Given the description of an element on the screen output the (x, y) to click on. 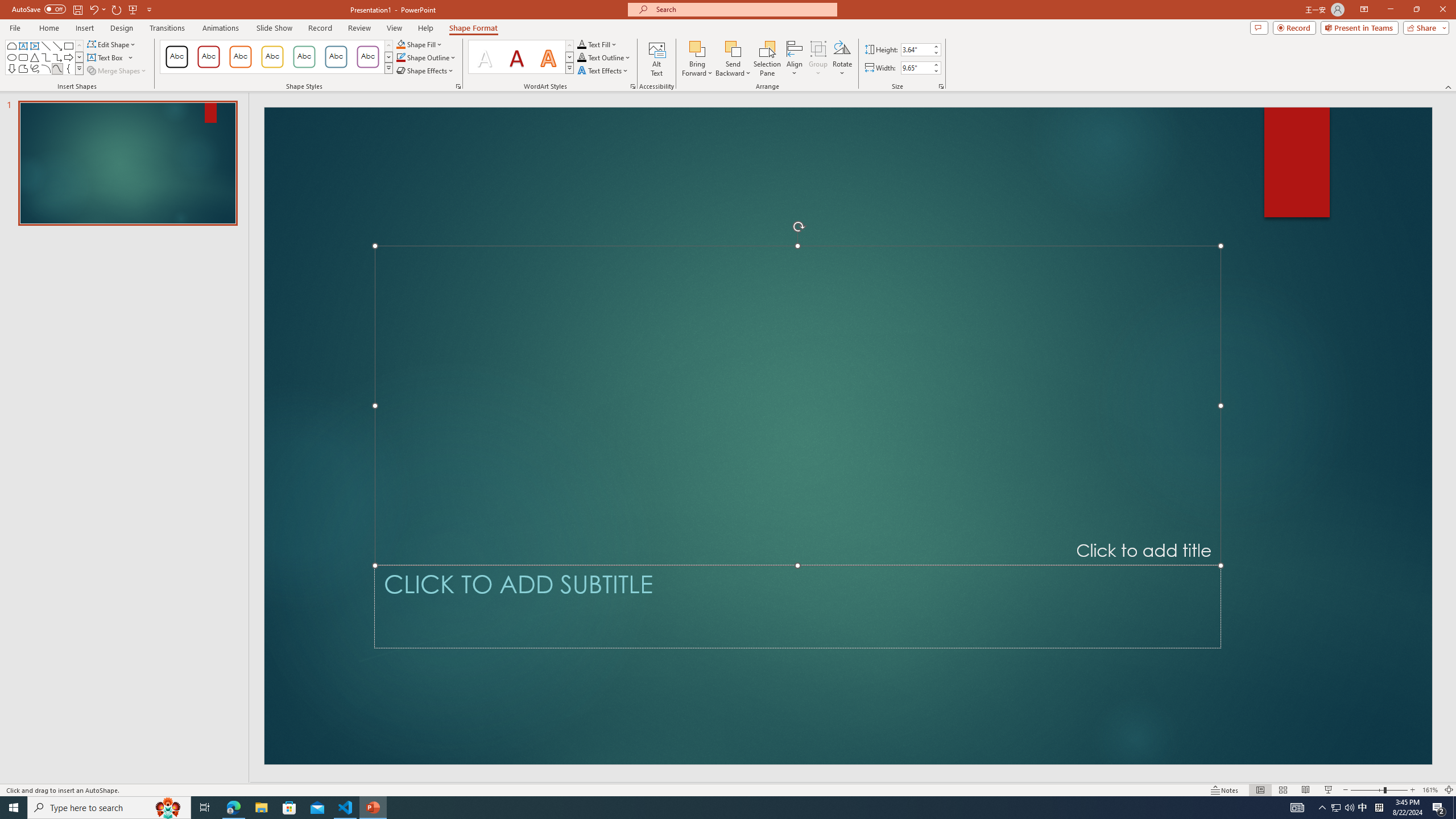
Zoom to Fit  (1449, 790)
Shape Outline (426, 56)
Curve (57, 68)
Collapse the Ribbon (1448, 86)
Microsoft search (742, 9)
Zoom (1379, 790)
System (6, 6)
Zoom In (1412, 790)
Freeform: Shape (23, 68)
Design (122, 28)
Fill: Dark Red, Accent color 1; Shadow (516, 56)
Subtitle TextBox (797, 606)
More (935, 64)
Colored Outline - Green, Accent 4 (304, 56)
